Given the description of an element on the screen output the (x, y) to click on. 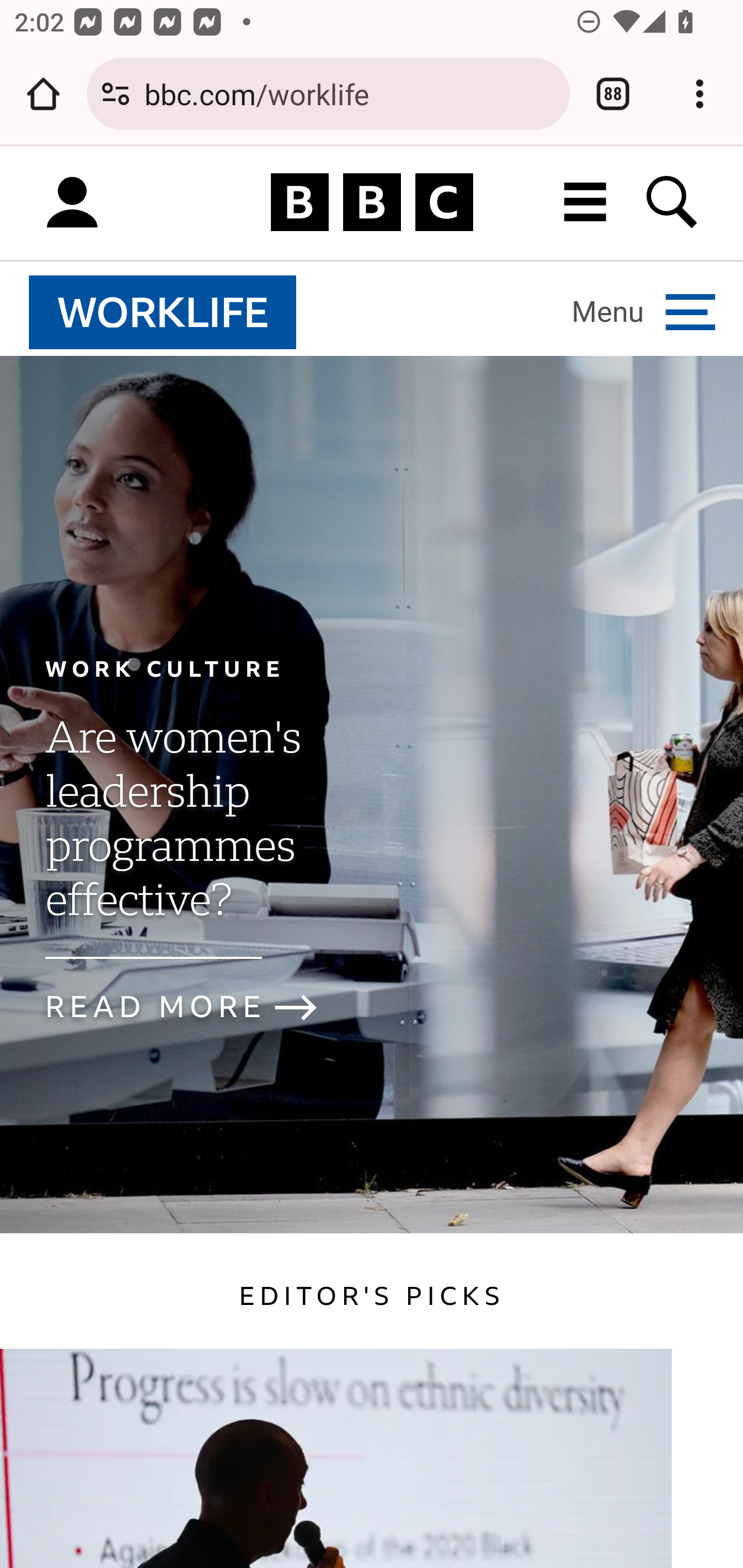
Open the home page (43, 93)
Connection is secure (115, 93)
Switch or close tabs (612, 93)
Customize and control Google Chrome (699, 93)
bbc.com/worklife (349, 92)
All BBC destinations menu (585, 202)
Search BBC (672, 202)
Sign in (71, 203)
Homepage (371, 203)
Open more navigation (643, 311)
worklife (162, 311)
WORK CULTURE (164, 668)
Are women's leadership programmes effective? (172, 835)
READ MORE (198, 1007)
